Given the description of an element on the screen output the (x, y) to click on. 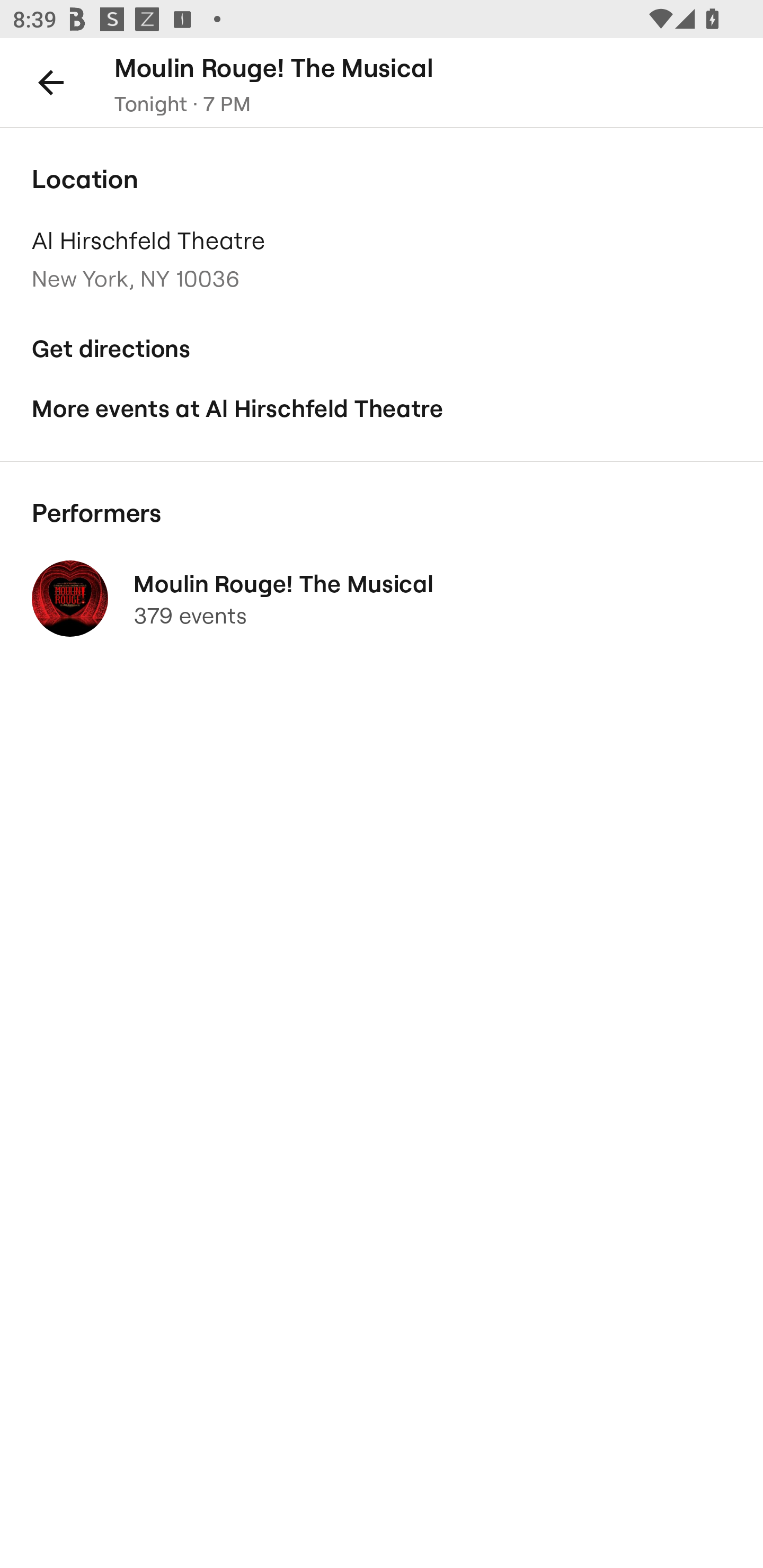
Back (50, 81)
Get directions (381, 348)
More events at Al Hirschfeld Theatre (381, 409)
Moulin Rouge! The Musical 379 events (381, 598)
